Given the description of an element on the screen output the (x, y) to click on. 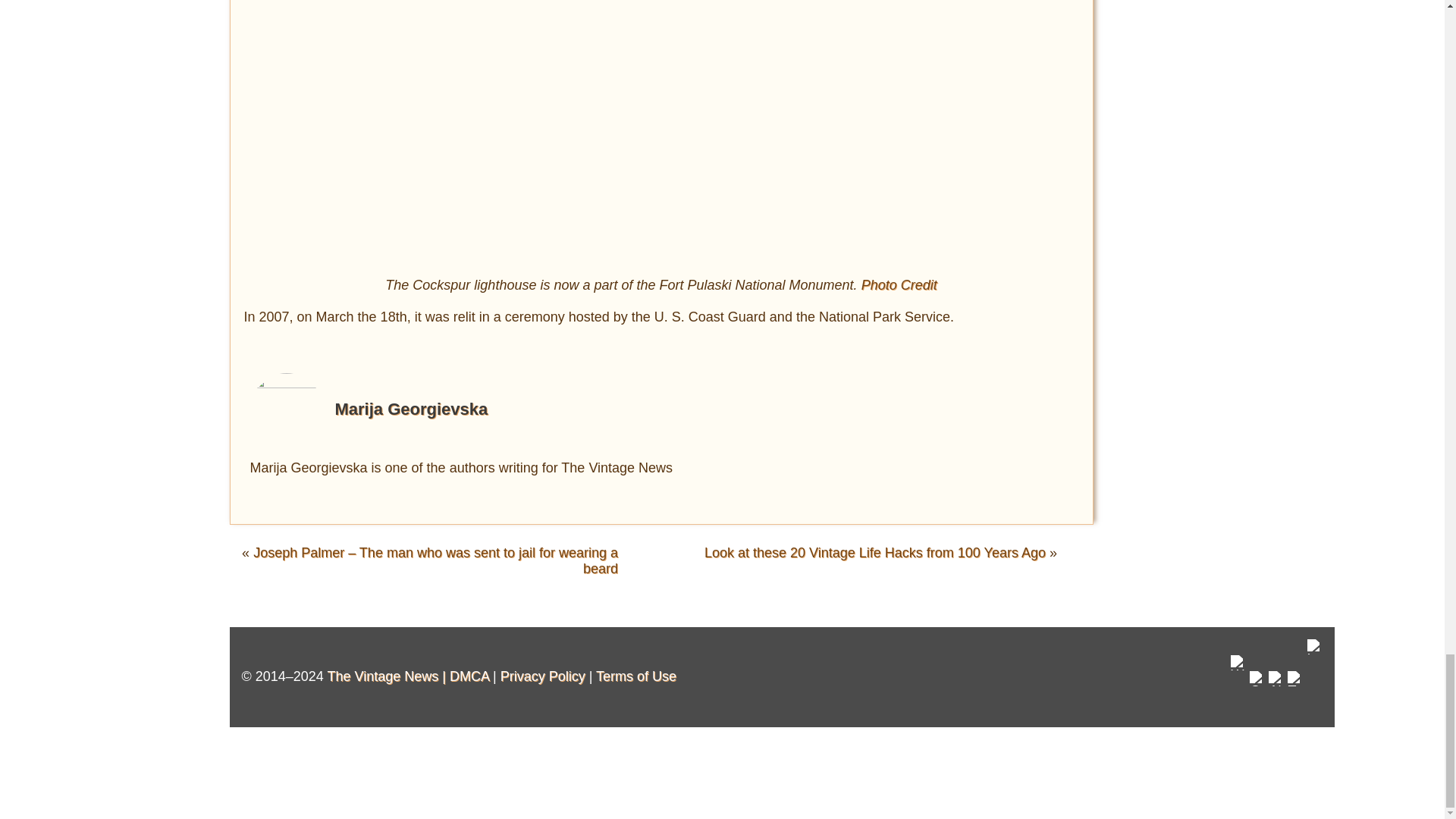
War History Online (1238, 684)
Abandoned Spaces (1276, 692)
I Love WWII Planes (1314, 676)
Tank Roar (1295, 692)
Outdoor Revival (1257, 692)
